Given the description of an element on the screen output the (x, y) to click on. 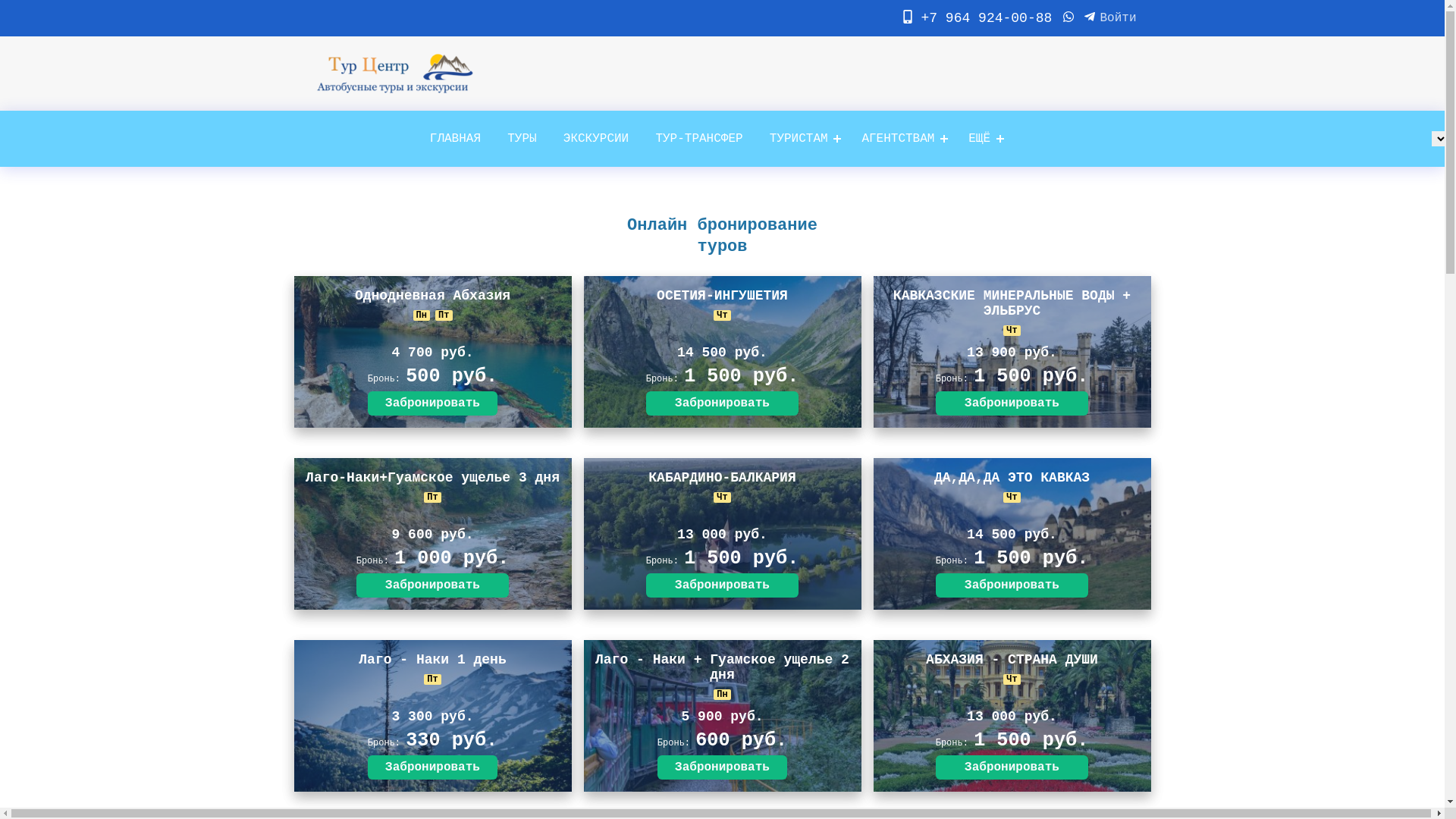
+7 964 924-00-88 Element type: text (975, 17)
WhatsApp Element type: hover (1068, 17)
Telegram Element type: hover (1089, 17)
